Given the description of an element on the screen output the (x, y) to click on. 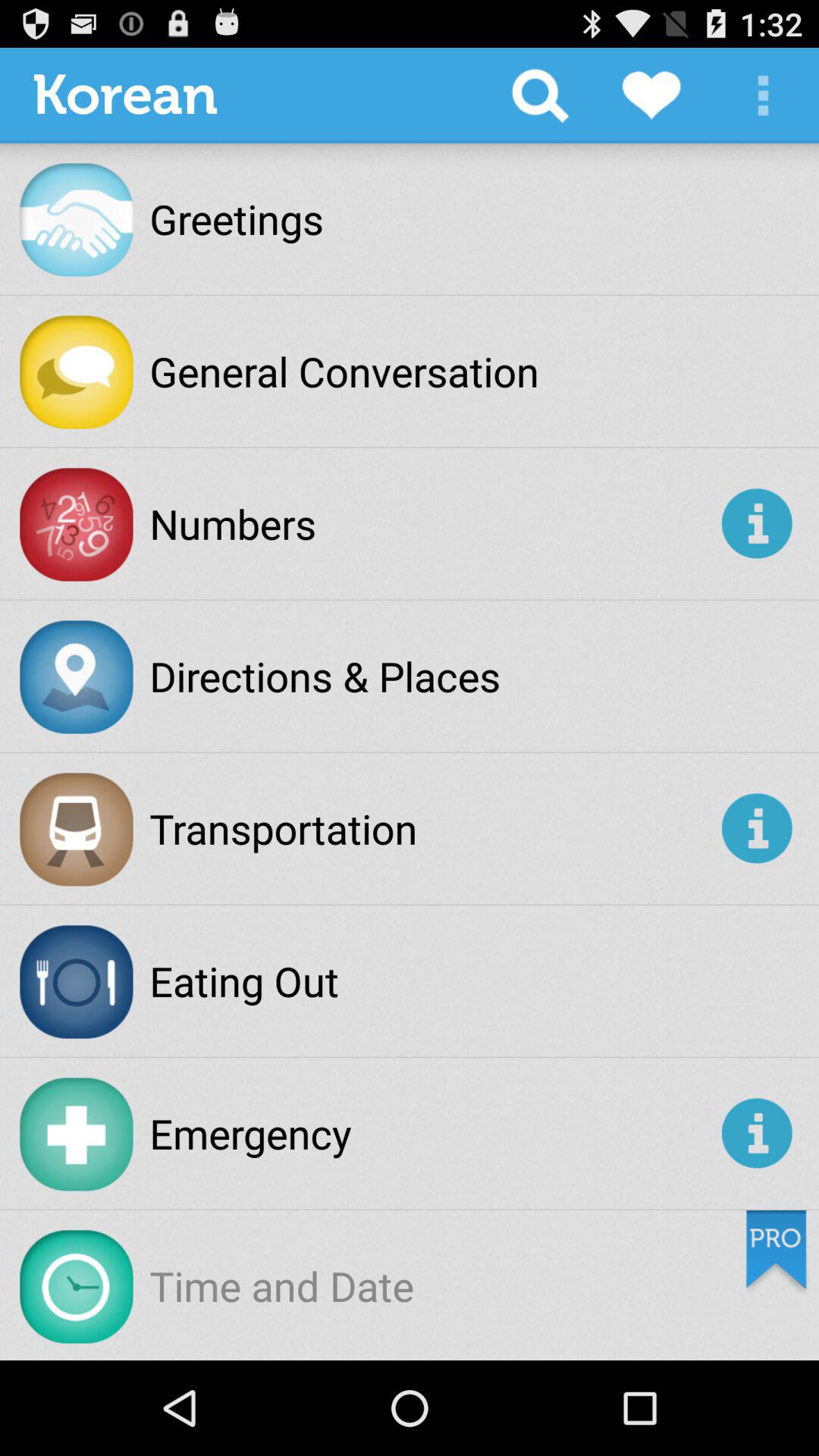
press the directions & places (324, 675)
